Given the description of an element on the screen output the (x, y) to click on. 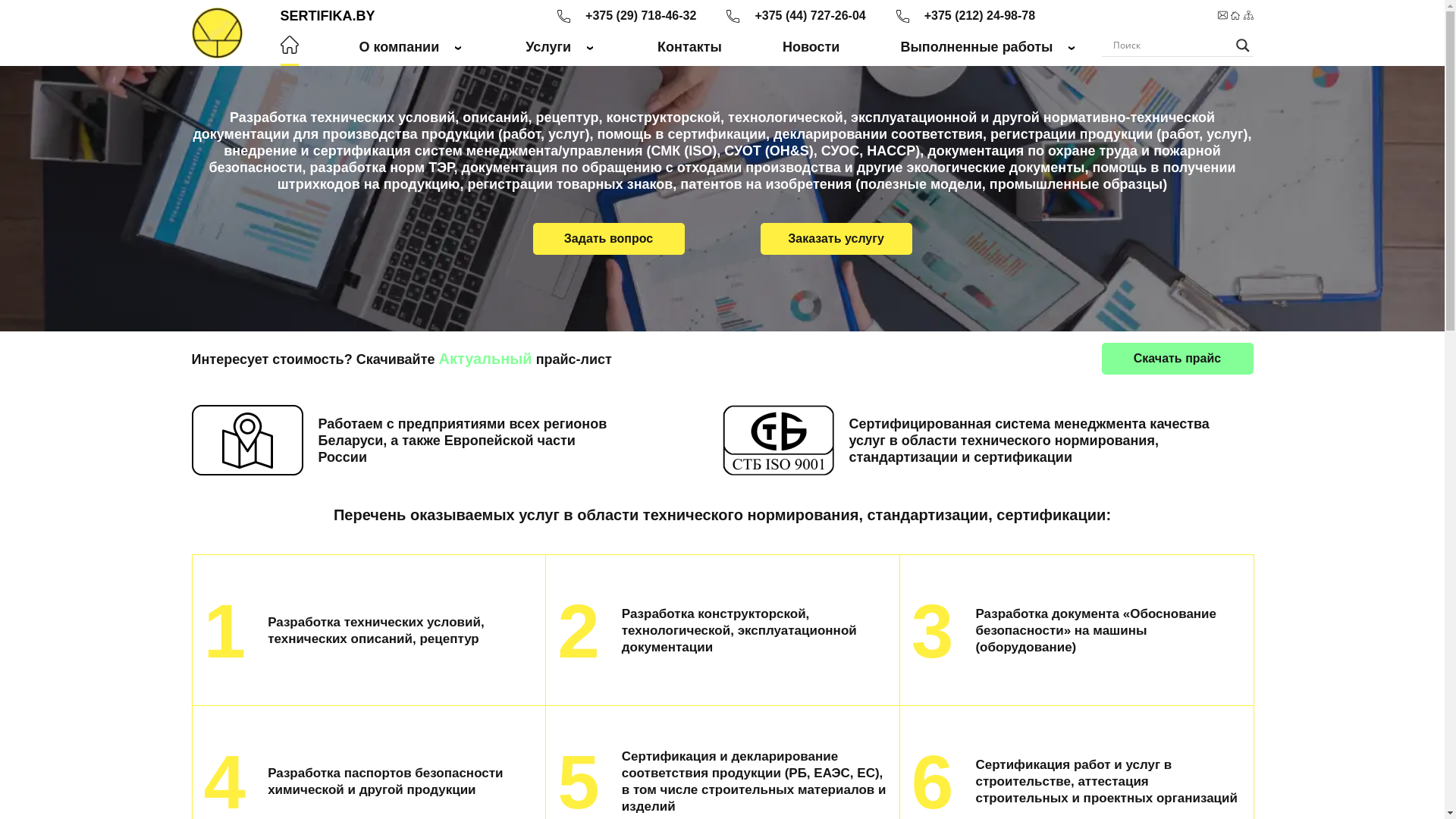
+375 (29) 718-46-32 Element type: text (640, 15)
+375 (44) 727-26-04 Element type: text (809, 15)
SERTIFIKA.BY Element type: text (327, 15)
. Element type: text (289, 44)
+375 (212) 24-98-78 Element type: text (979, 15)
